Given the description of an element on the screen output the (x, y) to click on. 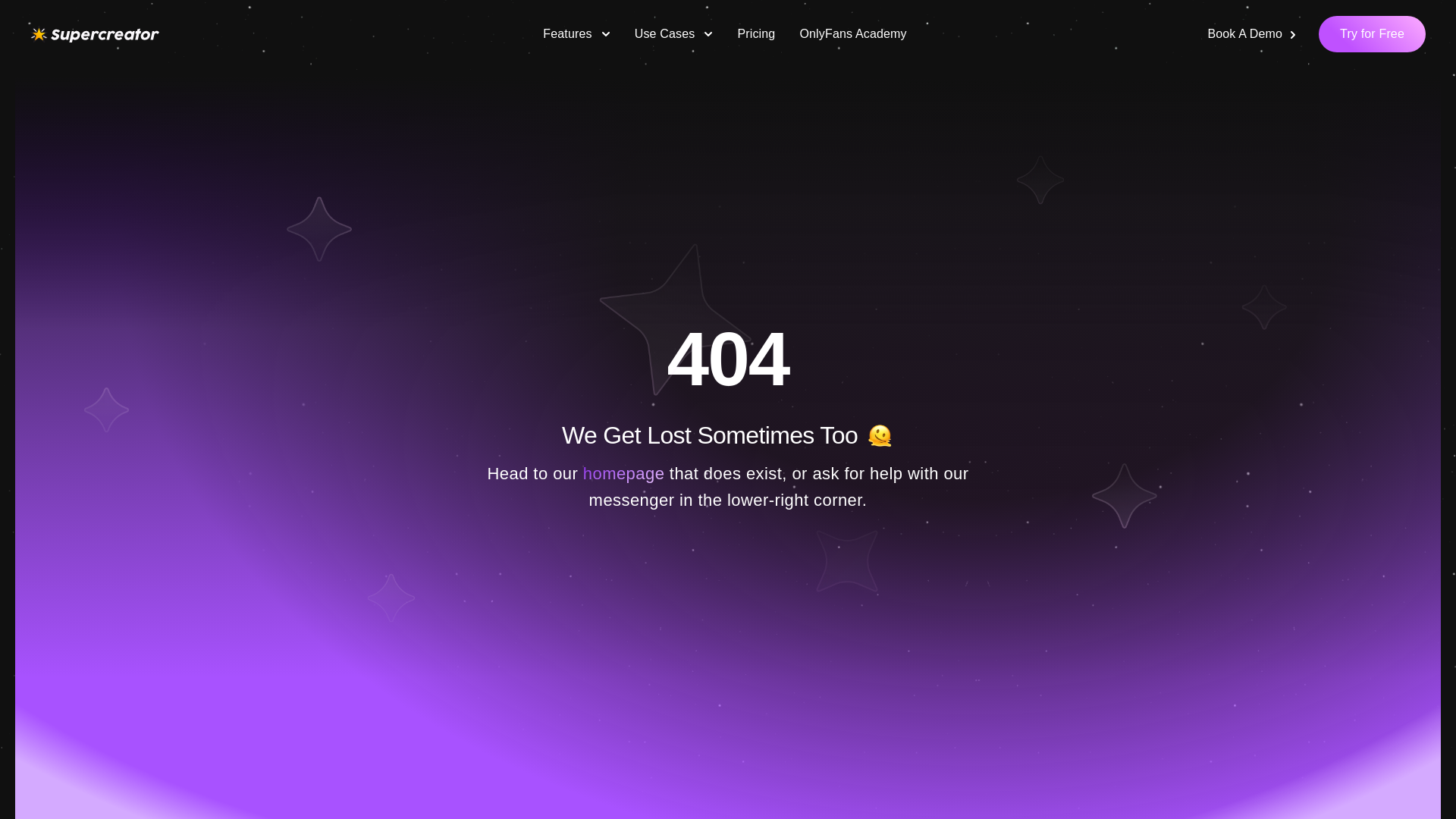
Book A Demo (1253, 33)
homepage (624, 473)
Pricing (756, 33)
Try for Free (1372, 33)
OnlyFans Academy (852, 33)
